Given the description of an element on the screen output the (x, y) to click on. 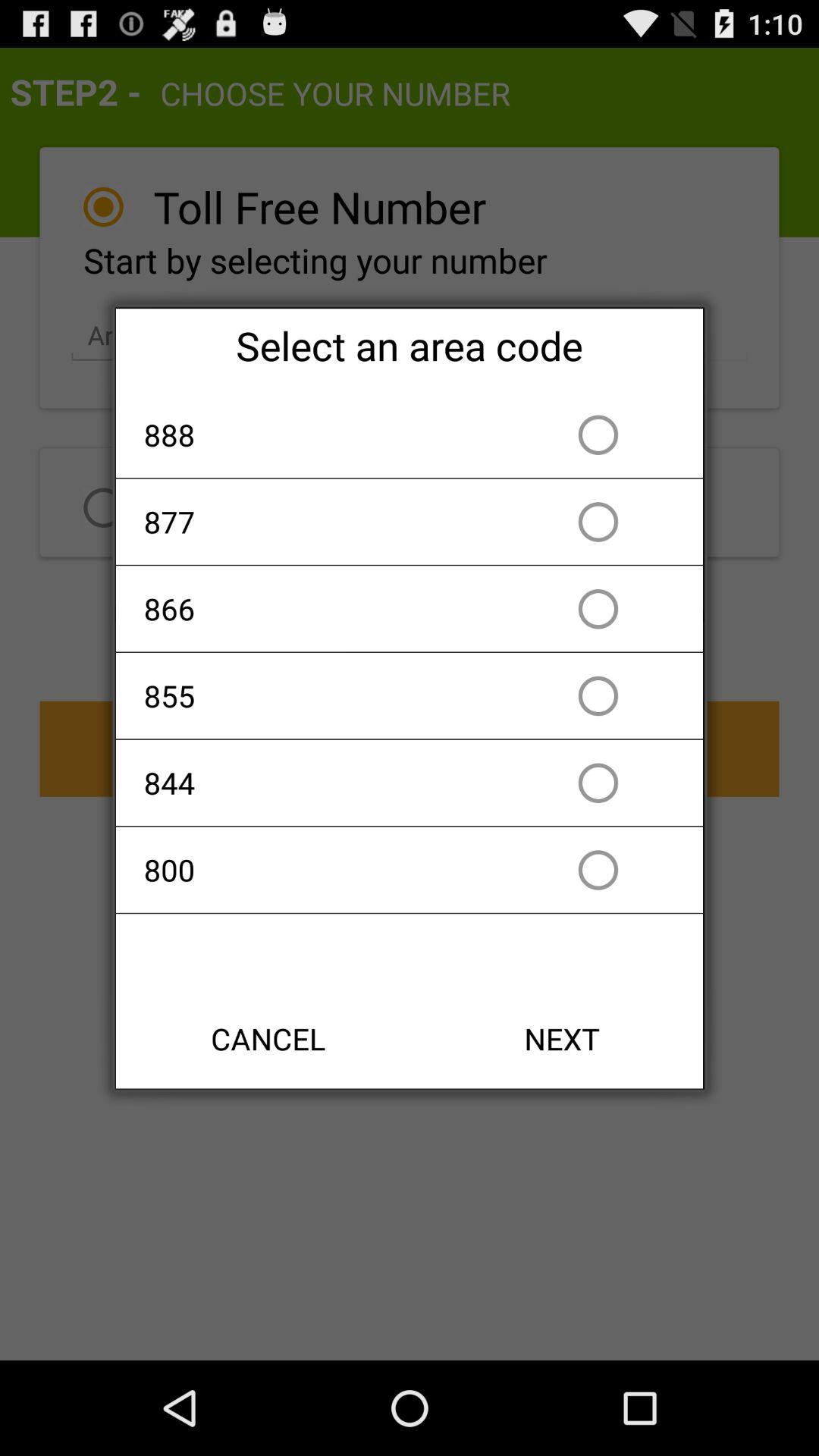
flip to the next item (561, 1038)
